Given the description of an element on the screen output the (x, y) to click on. 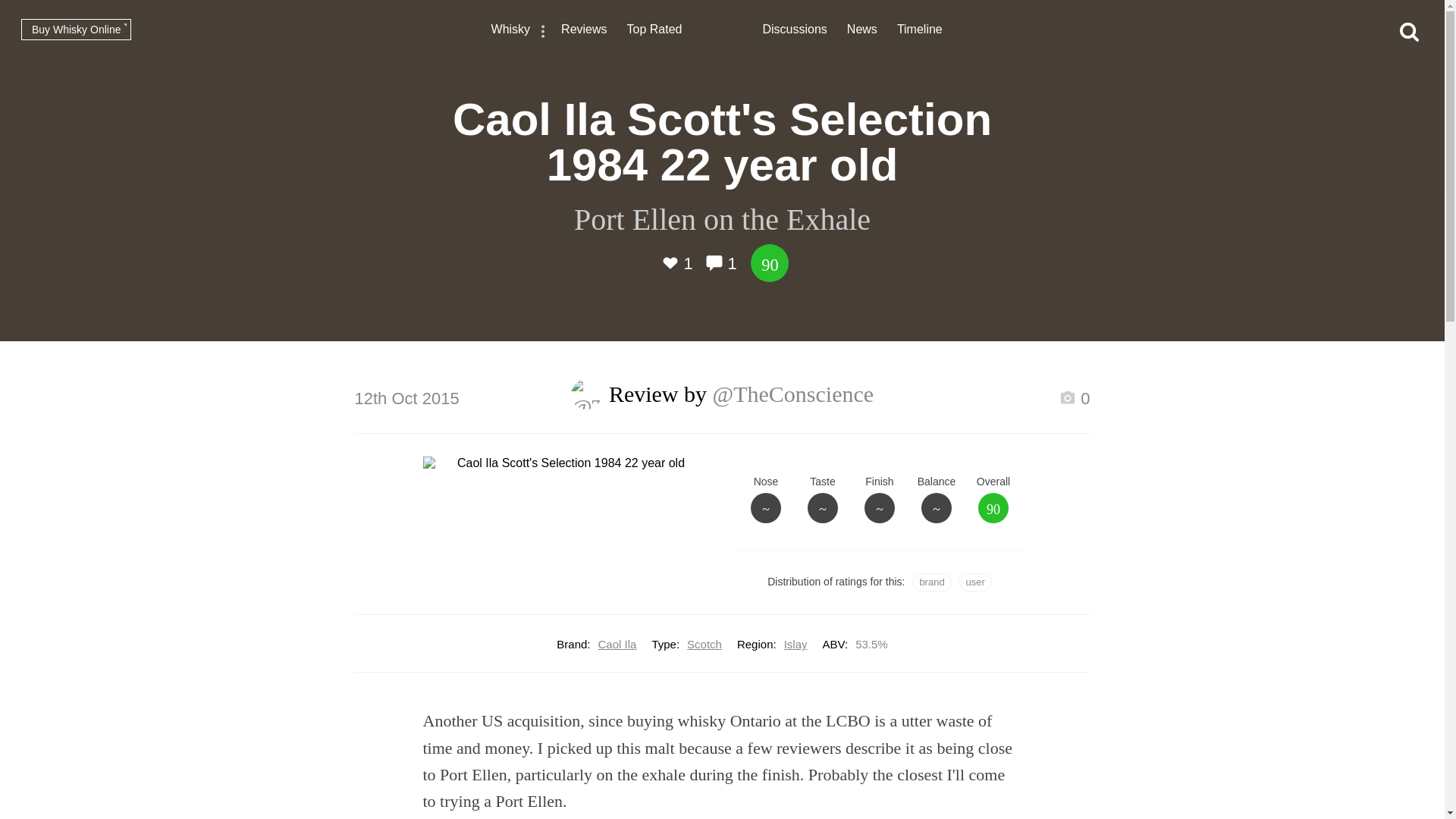
Buy Whisky Online (76, 29)
Top Rated (654, 31)
Discussions (794, 31)
Islay (796, 644)
Whisky reviews (583, 31)
Scotch (704, 644)
Whisky discussions (794, 31)
Latest whisky news (862, 31)
Reviews (583, 31)
CONNOSR. (721, 30)
